Given the description of an element on the screen output the (x, y) to click on. 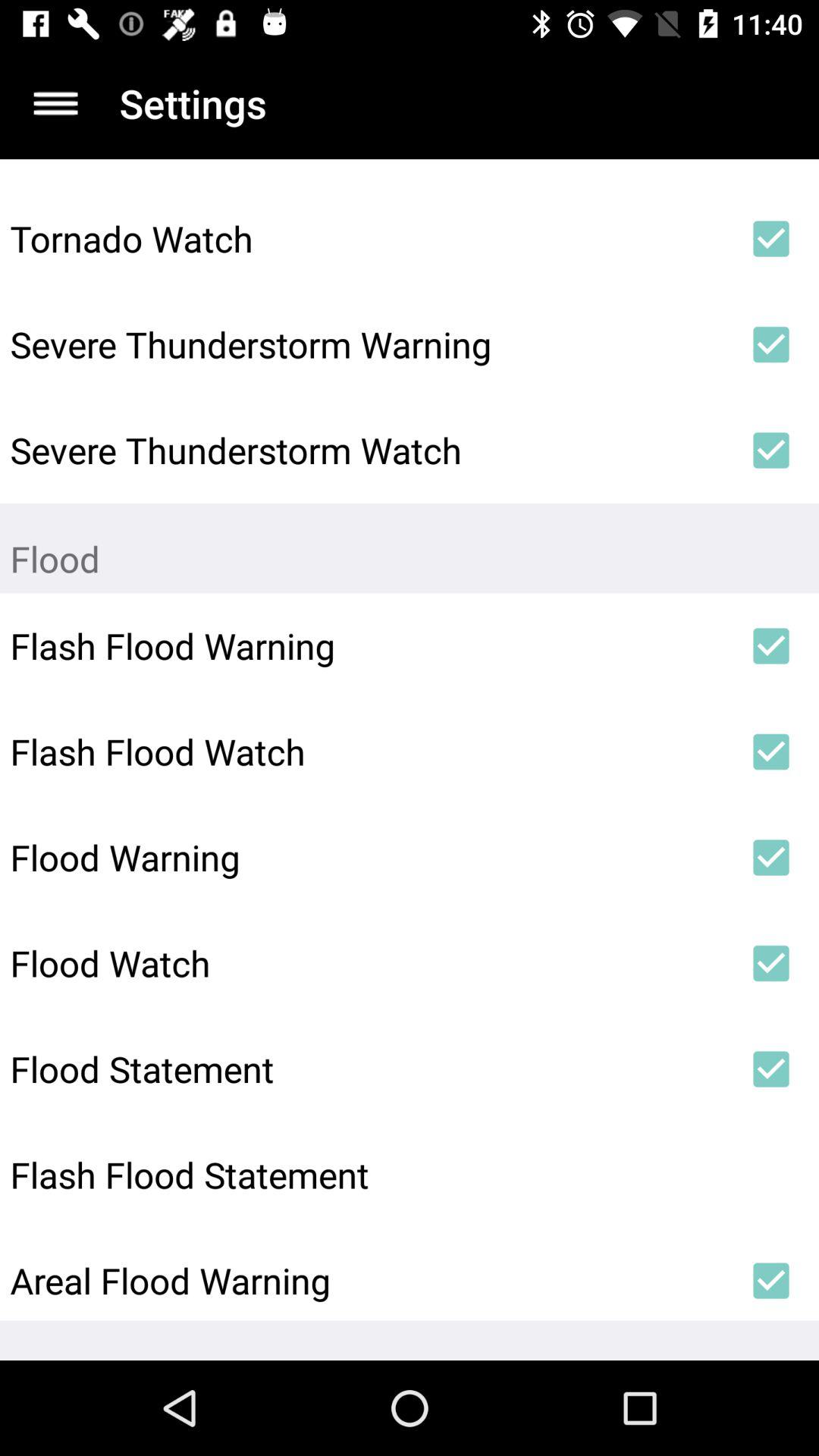
turn off item next to flood statement icon (771, 1069)
